Given the description of an element on the screen output the (x, y) to click on. 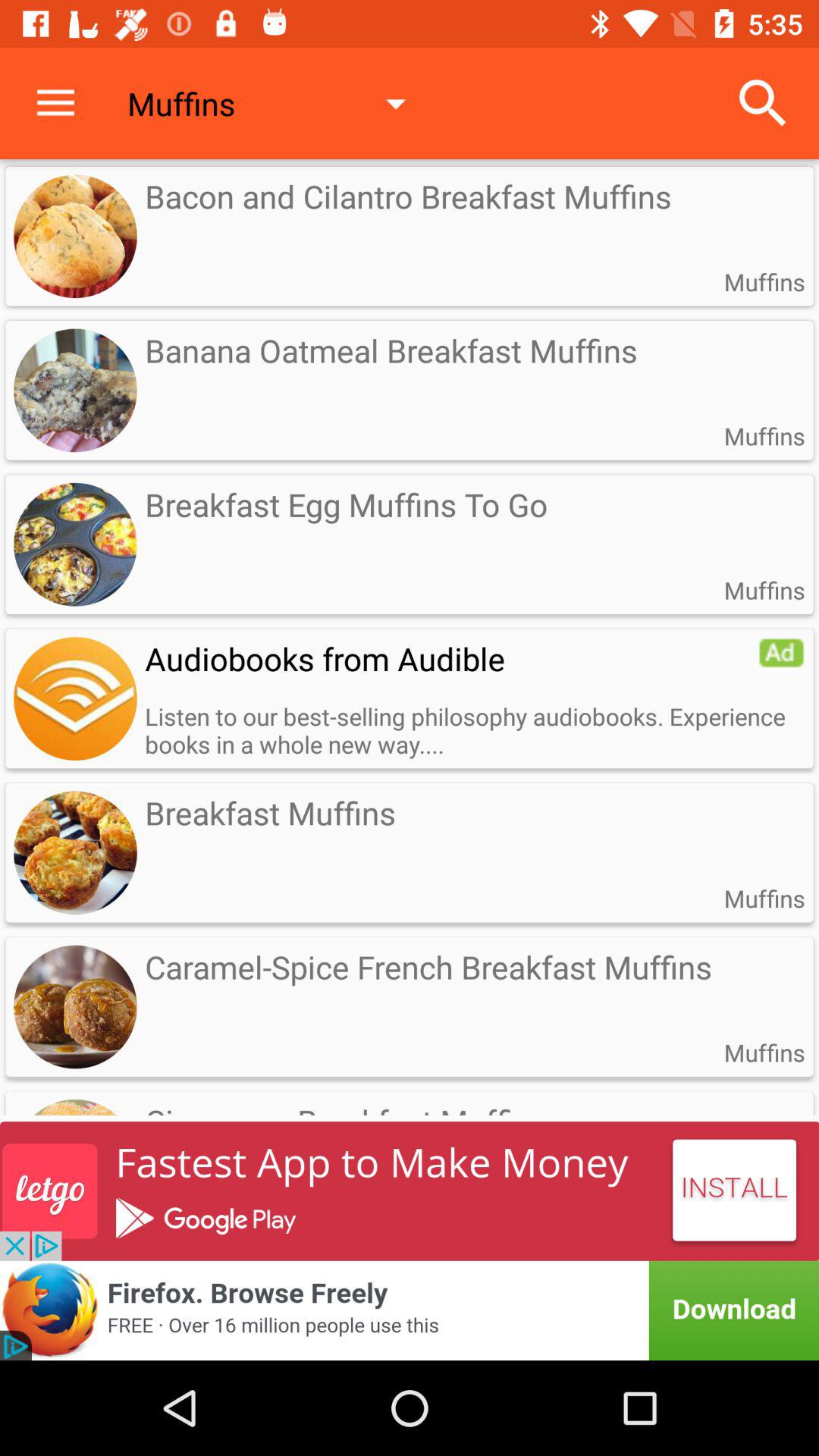
view the advertisement (75, 698)
